Given the description of an element on the screen output the (x, y) to click on. 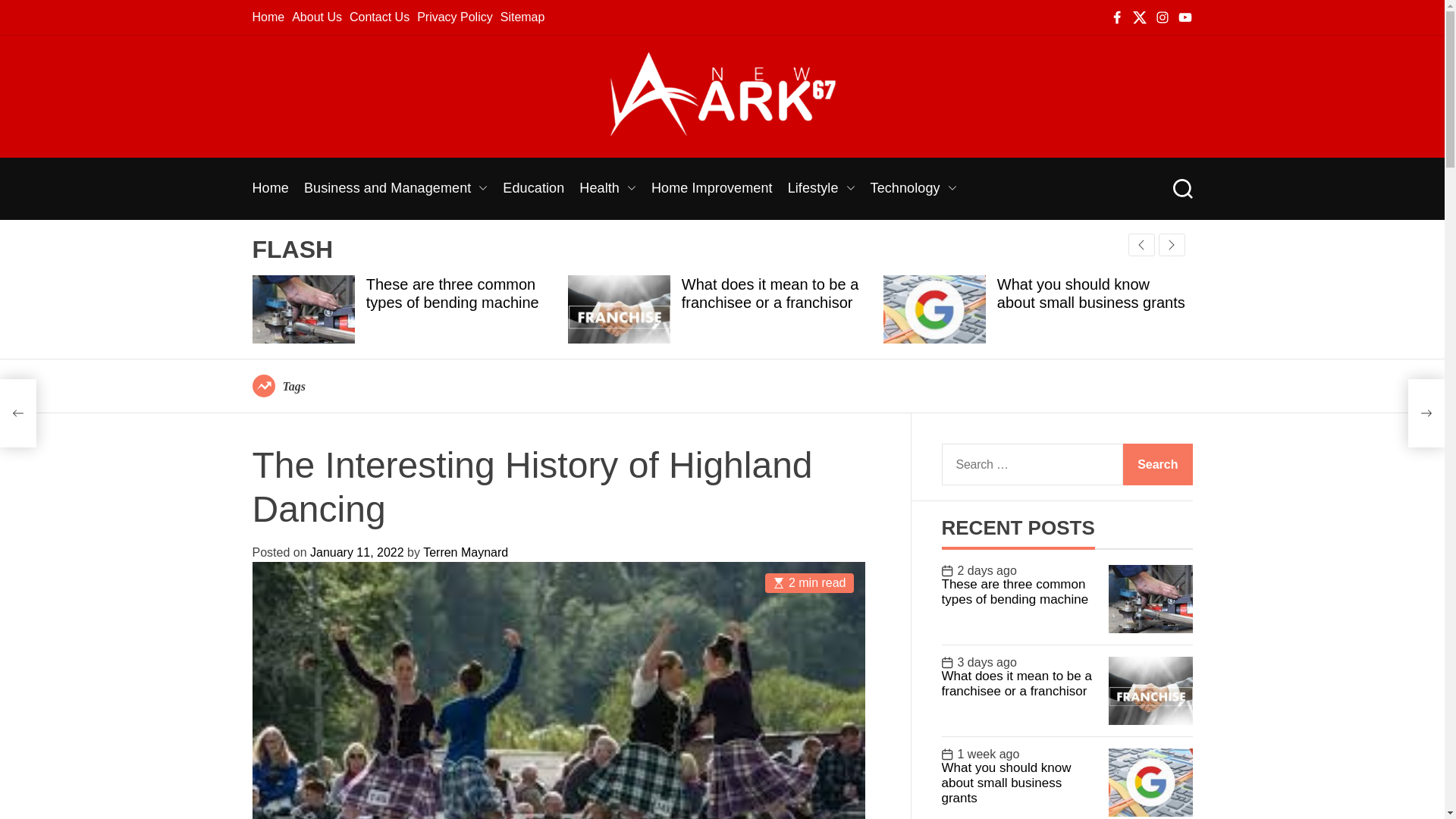
Home (267, 16)
twitter (1139, 17)
Home Improvement (711, 188)
Privacy Policy (454, 16)
Contact Us (379, 16)
Search (1182, 189)
Health (607, 188)
Business and Management (395, 188)
Lifestyle (821, 188)
Home (269, 188)
